Given the description of an element on the screen output the (x, y) to click on. 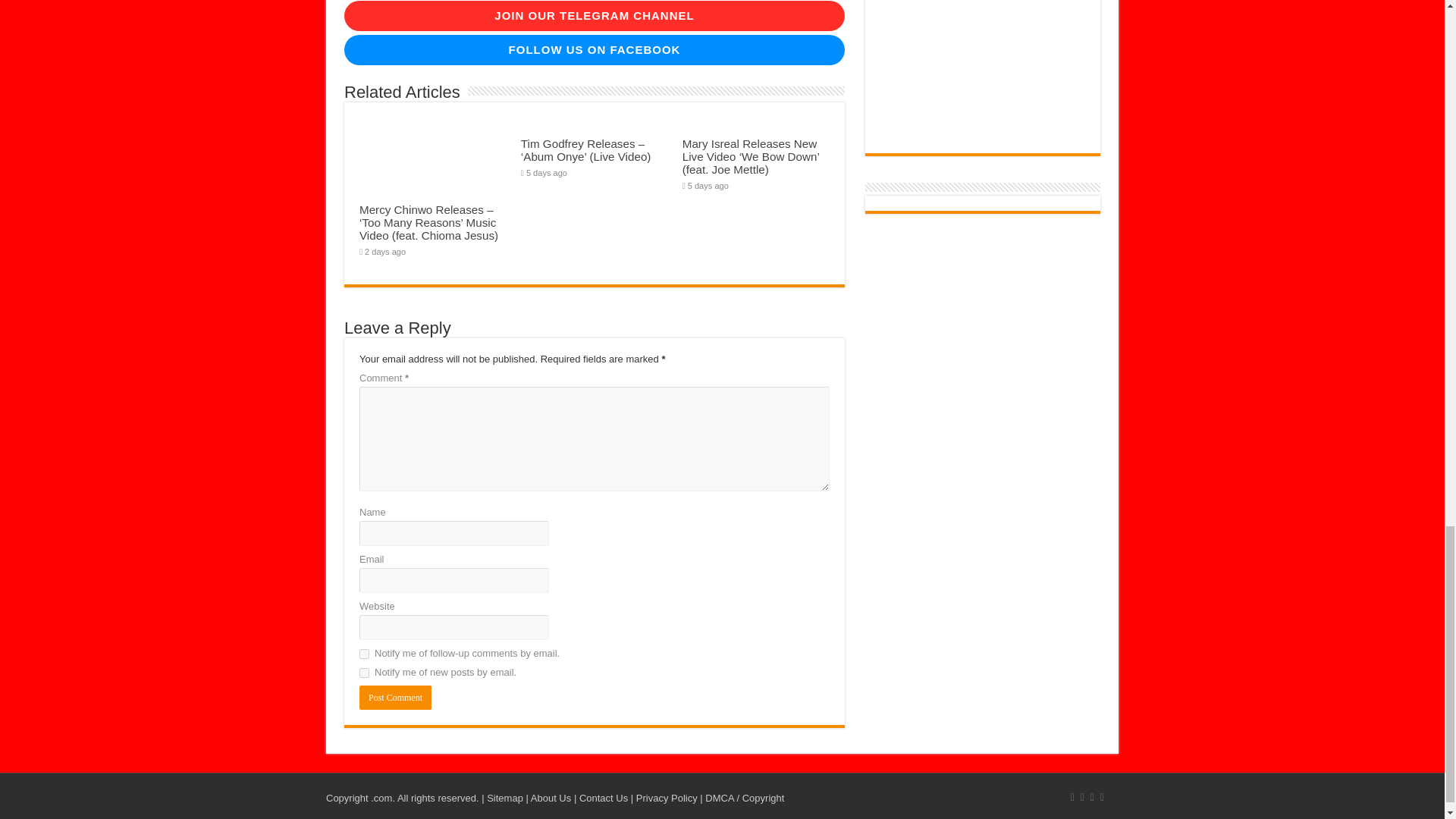
JOIN OUR TELEGRAM CHANNEL (593, 15)
subscribe (364, 654)
Post Comment (394, 697)
subscribe (364, 673)
